Given the description of an element on the screen output the (x, y) to click on. 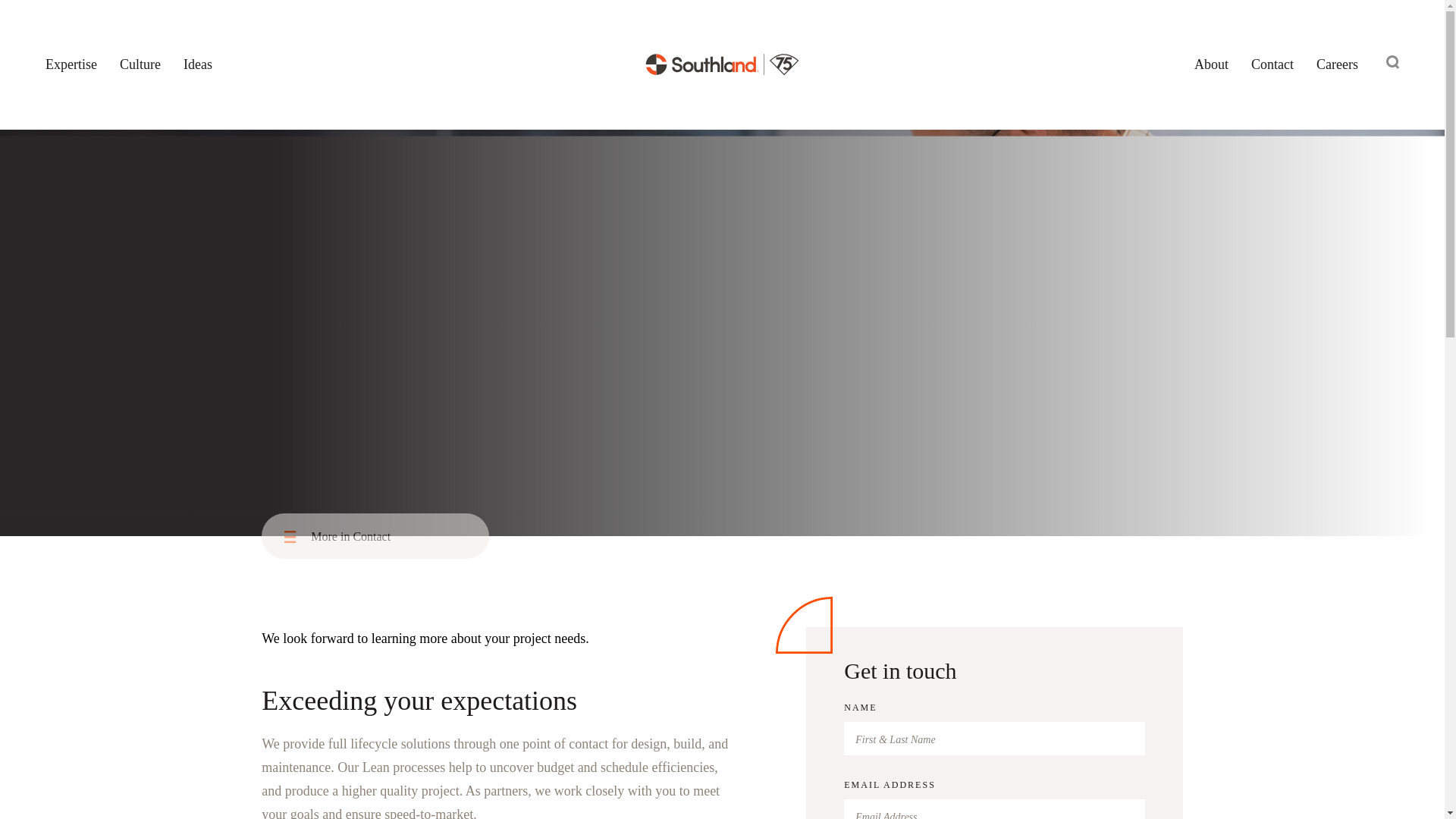
Culture (139, 64)
Expertise (71, 64)
Skip to main content (13, 13)
